Given the description of an element on the screen output the (x, y) to click on. 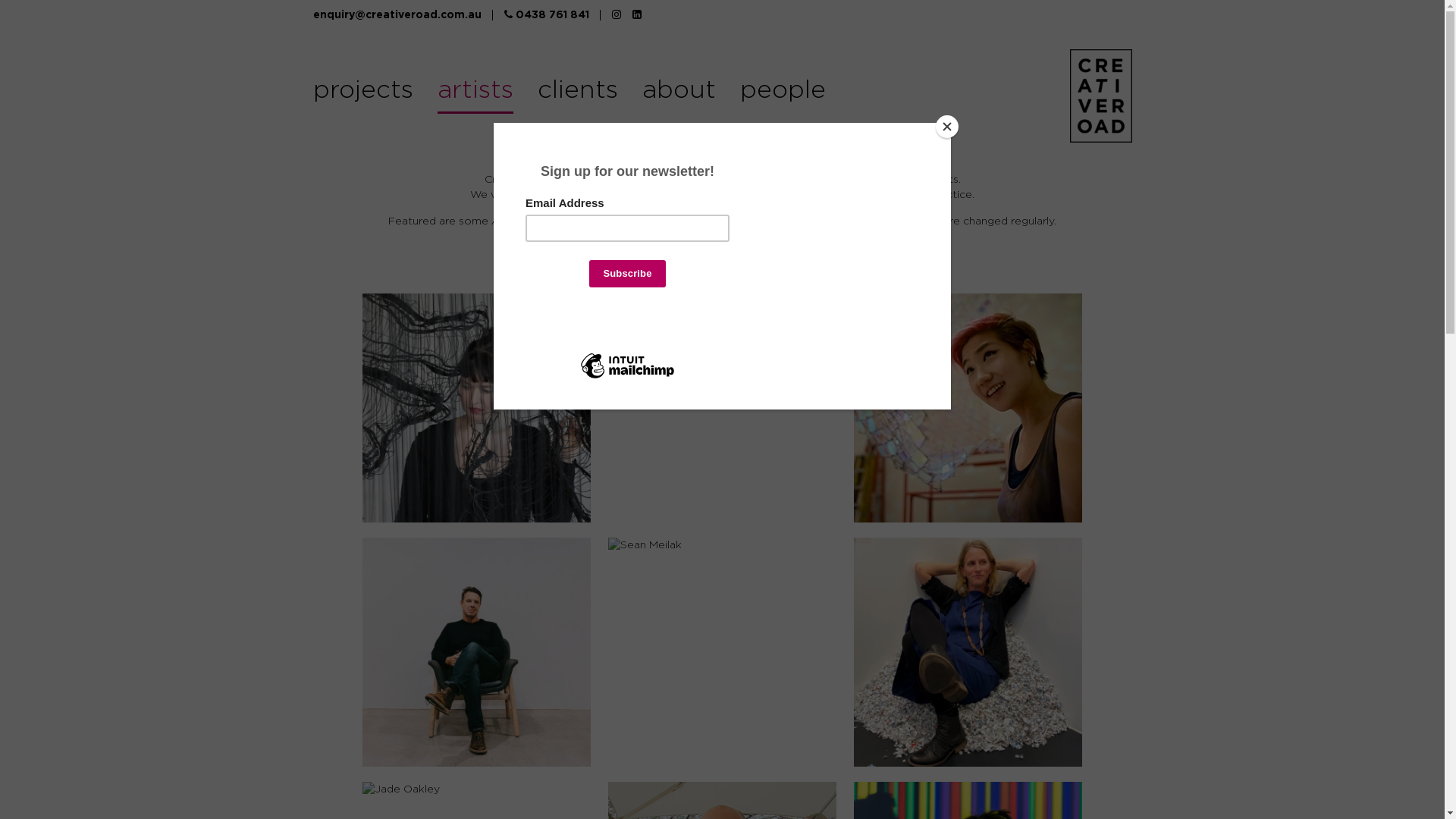
SEAN MEILAK Element type: text (644, 544)
JADE OAKLEY Element type: text (400, 789)
about Element type: text (678, 94)
enquiry@creativeroad.com.au Element type: text (396, 14)
NICOLA MOSS Element type: text (645, 300)
artists Element type: text (474, 94)
people Element type: text (782, 94)
clients Element type: text (576, 94)
0438 761 841 Element type: text (545, 14)
projects Element type: text (362, 94)
